Given the description of an element on the screen output the (x, y) to click on. 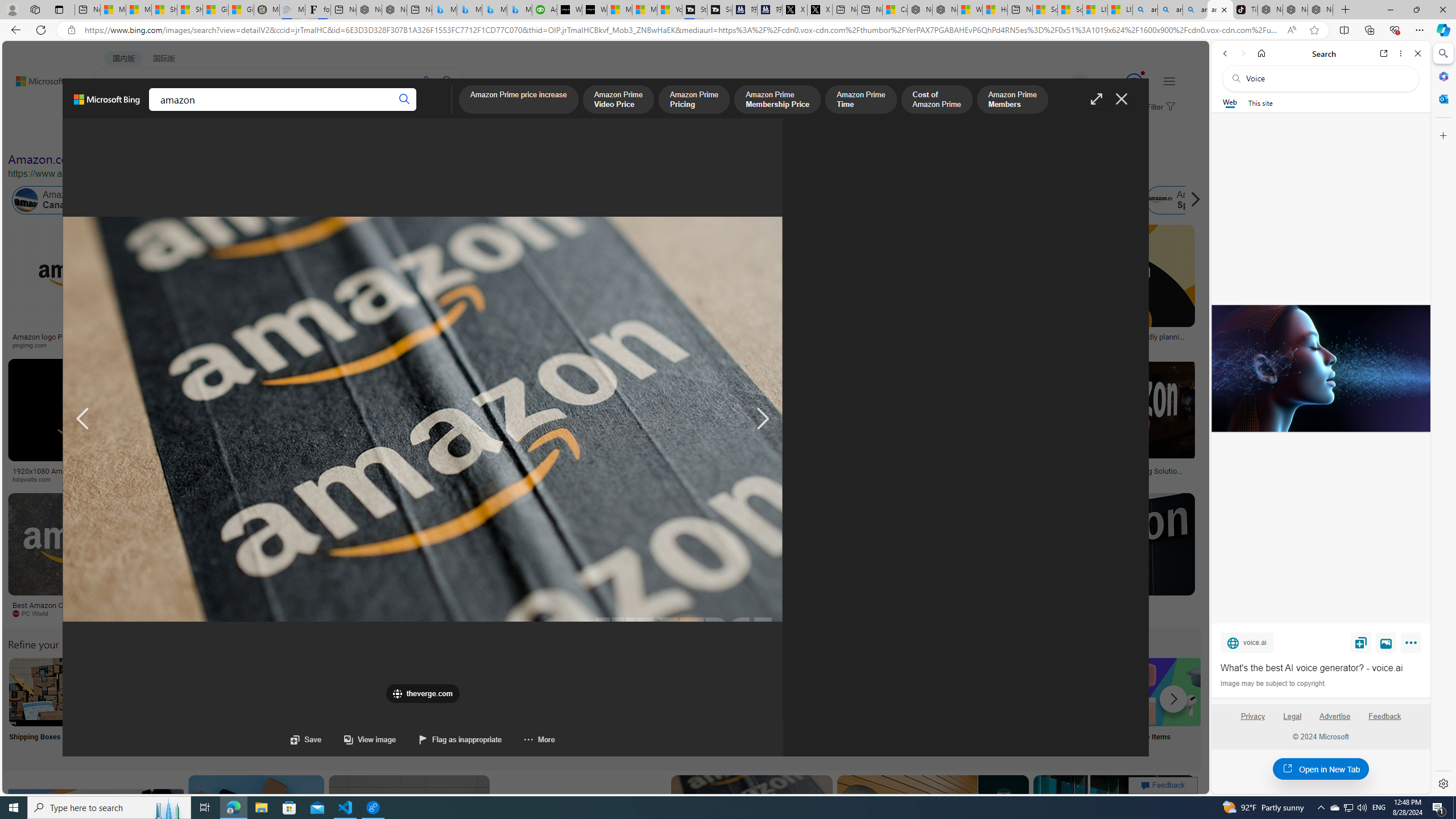
The Verge (190, 612)
Amazonprotothema.grSave (1104, 557)
3d illustration of amazon logo 18779928 PNG (939, 474)
People (295, 135)
Amazon Prime Video Price (618, 100)
PC World (83, 613)
Jobs Near Me (342, 706)
Amazon Online Store (644, 691)
Amazon Mini TV (794, 691)
